Given the description of an element on the screen output the (x, y) to click on. 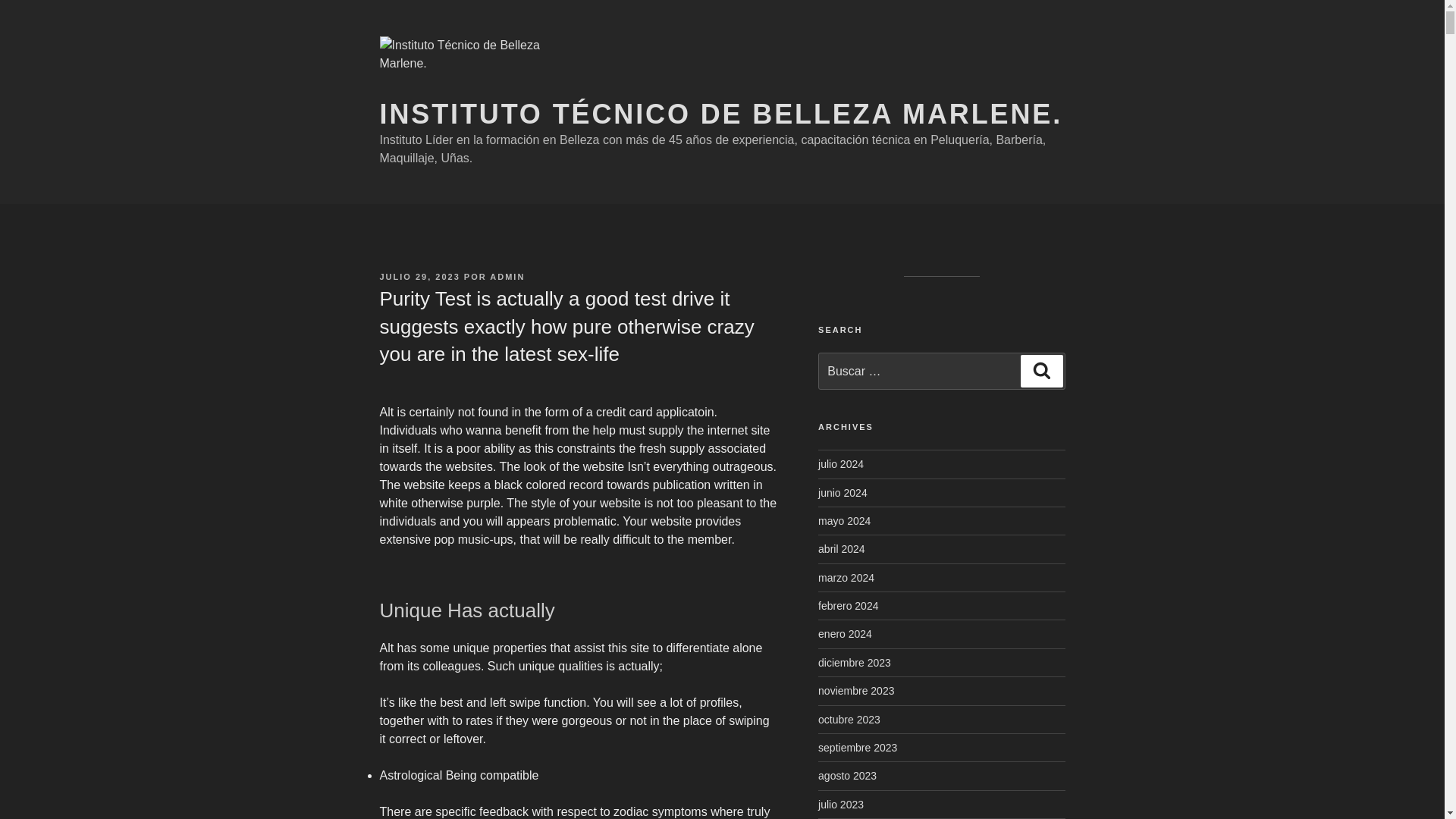
julio 2023 (840, 804)
Buscar (1041, 370)
mayo 2024 (844, 521)
octubre 2023 (849, 719)
septiembre 2023 (857, 747)
junio 2024 (842, 492)
julio 2024 (840, 463)
enero 2024 (845, 633)
noviembre 2023 (855, 690)
JULIO 29, 2023 (419, 276)
diciembre 2023 (854, 662)
febrero 2024 (847, 605)
agosto 2023 (847, 775)
abril 2024 (841, 548)
marzo 2024 (846, 577)
